Given the description of an element on the screen output the (x, y) to click on. 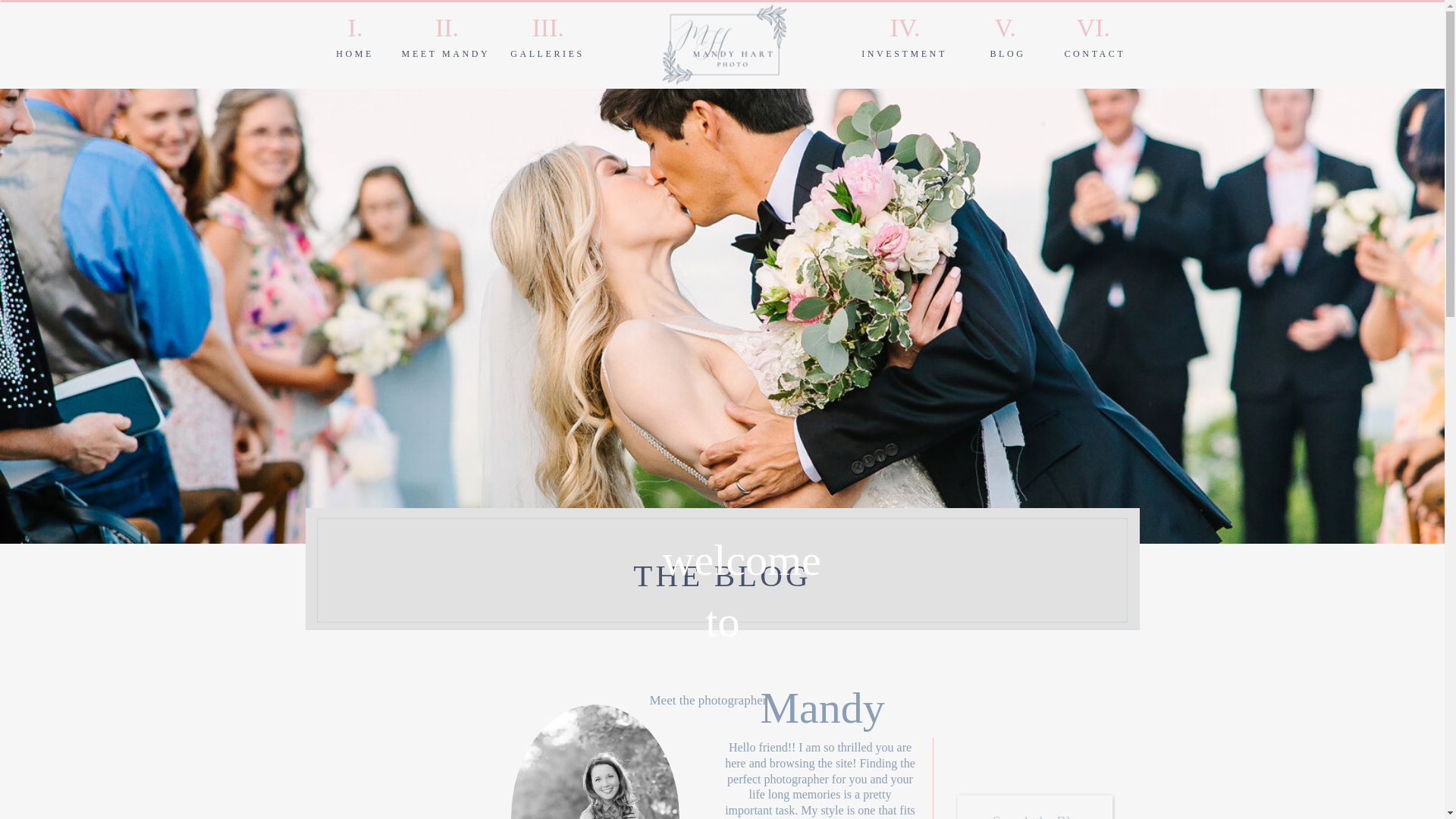
IV. (903, 26)
MEET MANDY (445, 54)
BLOG (1008, 54)
VI. (1091, 26)
II. (446, 26)
I. (354, 26)
V. (1004, 23)
INVESTMENT (903, 54)
GALLERIES (547, 54)
CONTACT (1090, 54)
HOME (355, 54)
III. (546, 26)
